Given the description of an element on the screen output the (x, y) to click on. 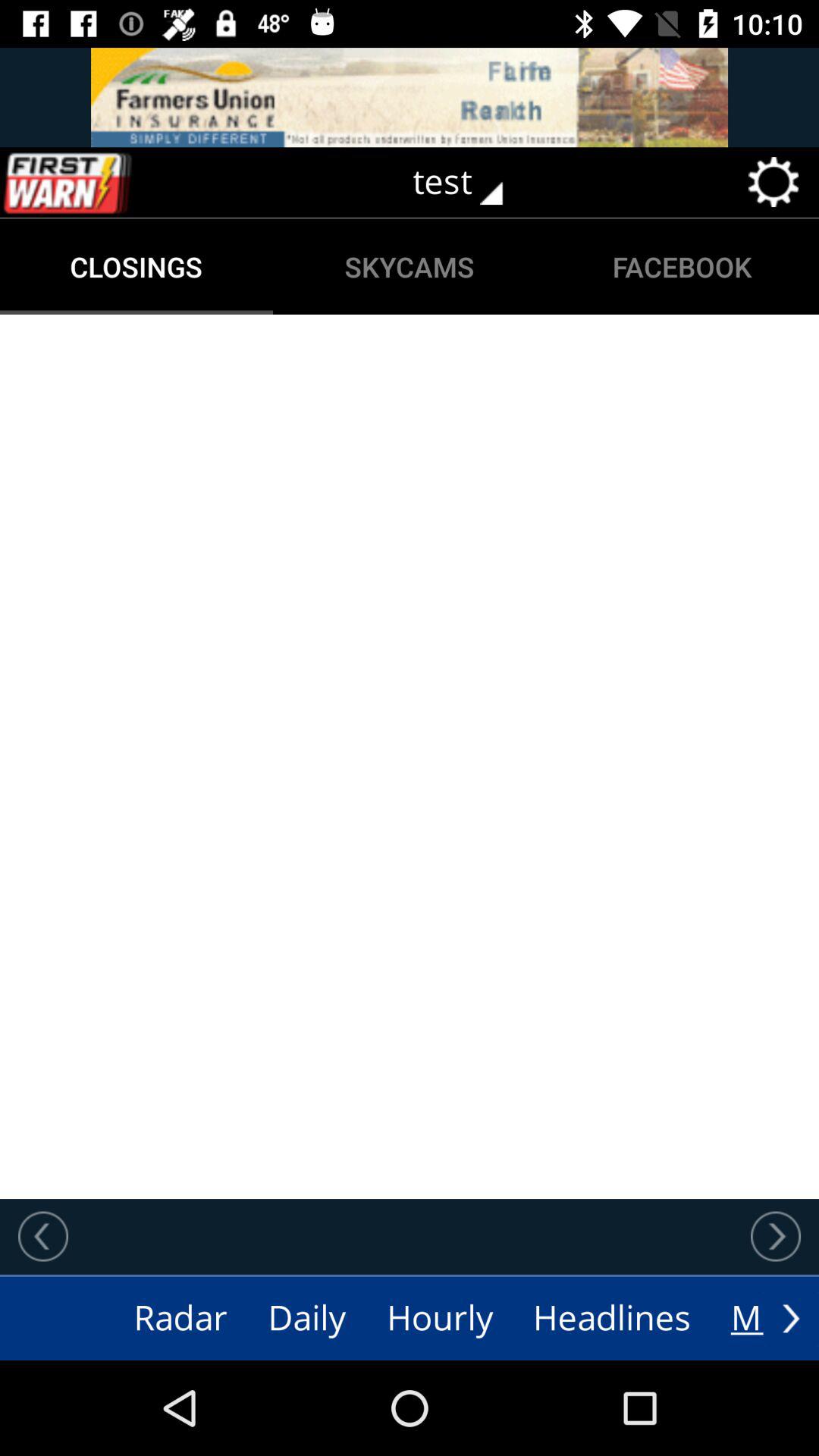
next page (791, 1318)
